Given the description of an element on the screen output the (x, y) to click on. 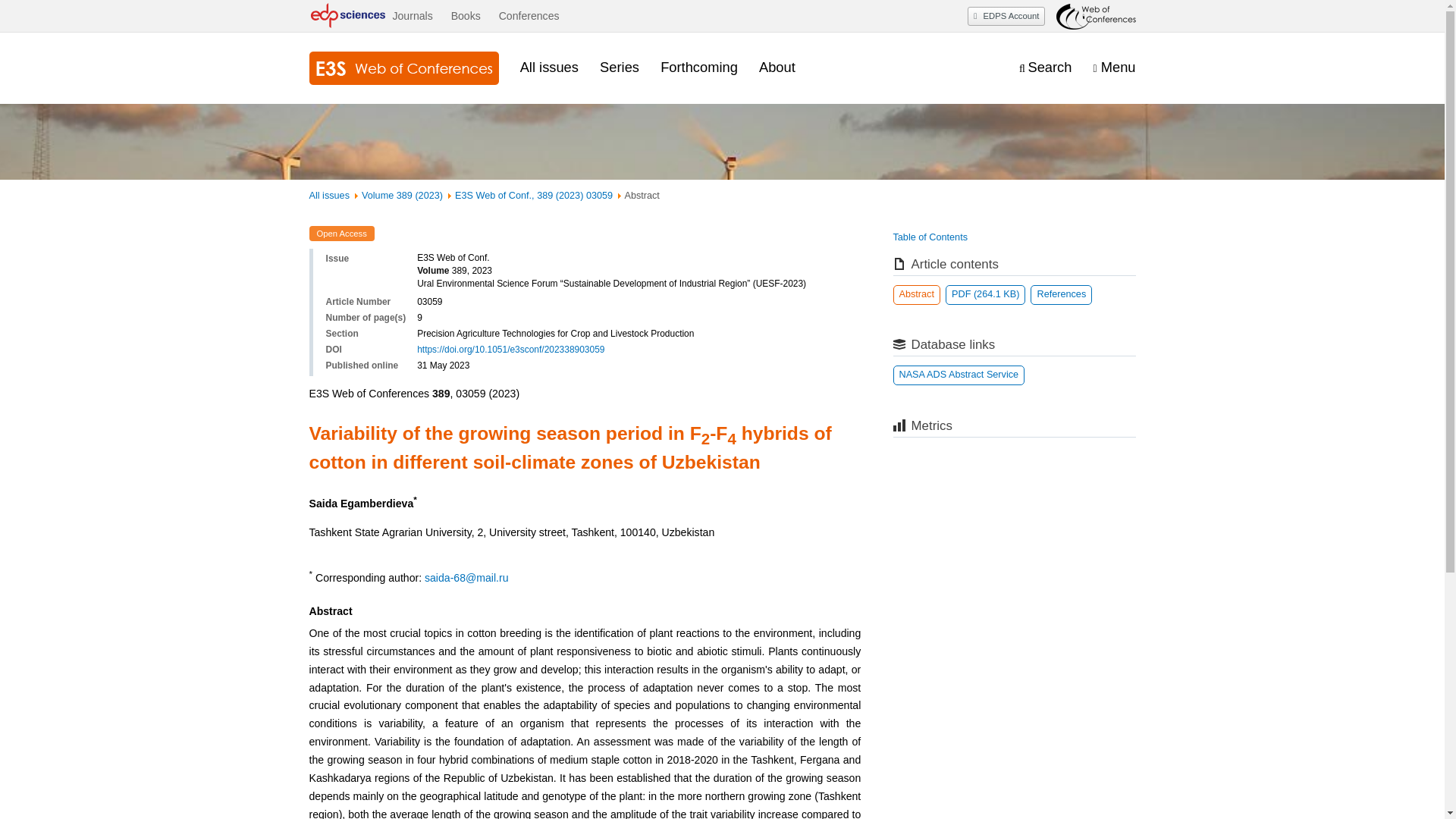
Forthcoming (699, 67)
Journal homepage (403, 67)
All issues (548, 67)
Series (619, 67)
Conferences (529, 16)
Display the search engine (1045, 67)
References (1061, 294)
About (776, 67)
Abstract (916, 294)
Books (465, 16)
